Given the description of an element on the screen output the (x, y) to click on. 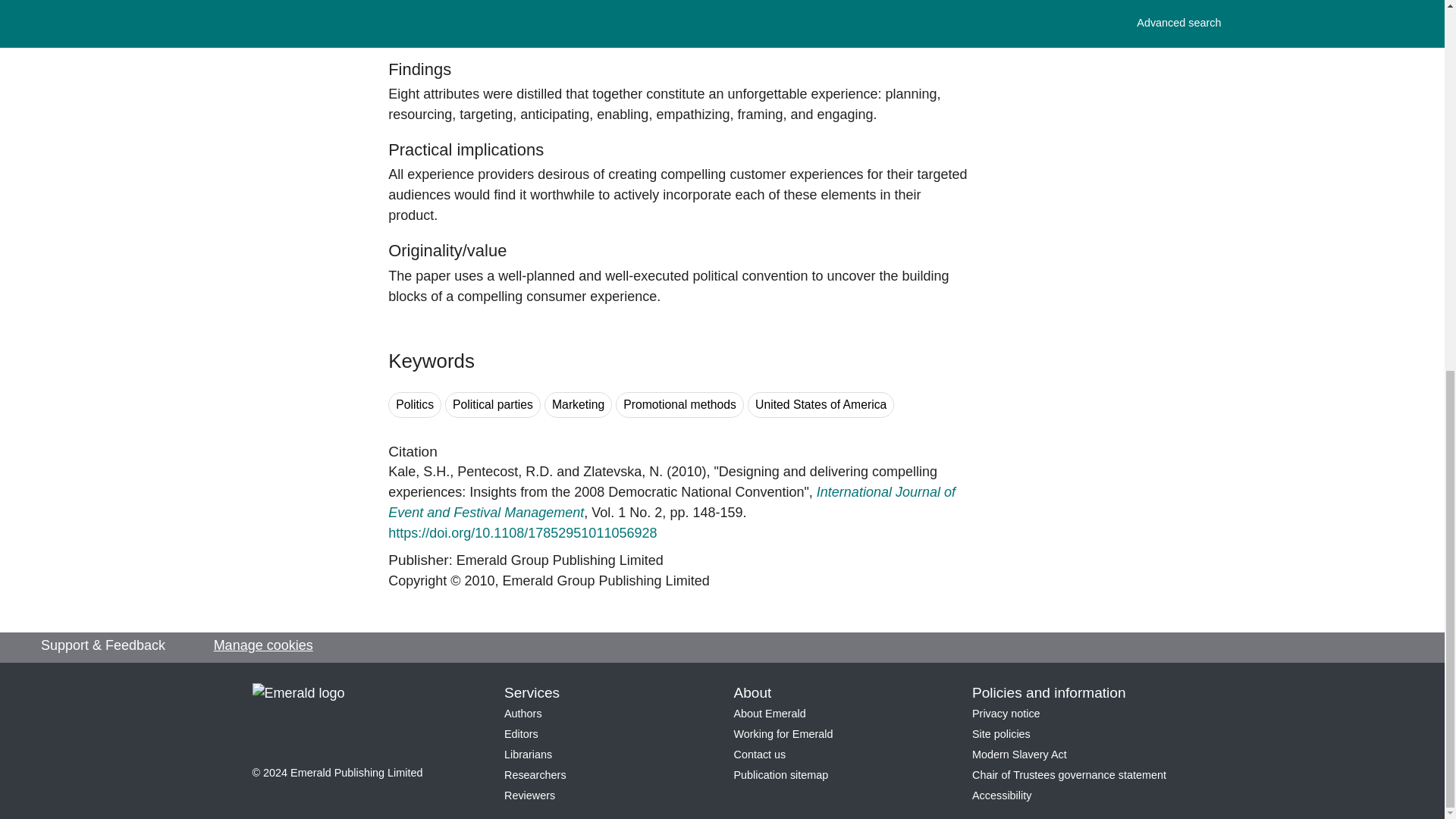
Editors (520, 734)
Search for keyword Promotional methods (679, 405)
Authors (522, 713)
Marketing (577, 405)
International Journal of Event and Festival Management (671, 502)
Natalina Zlatevska (622, 471)
Kale, S.H. (418, 471)
Manage cookies (263, 645)
Search for keyword United States of America (820, 405)
Reviewers (528, 795)
